Given the description of an element on the screen output the (x, y) to click on. 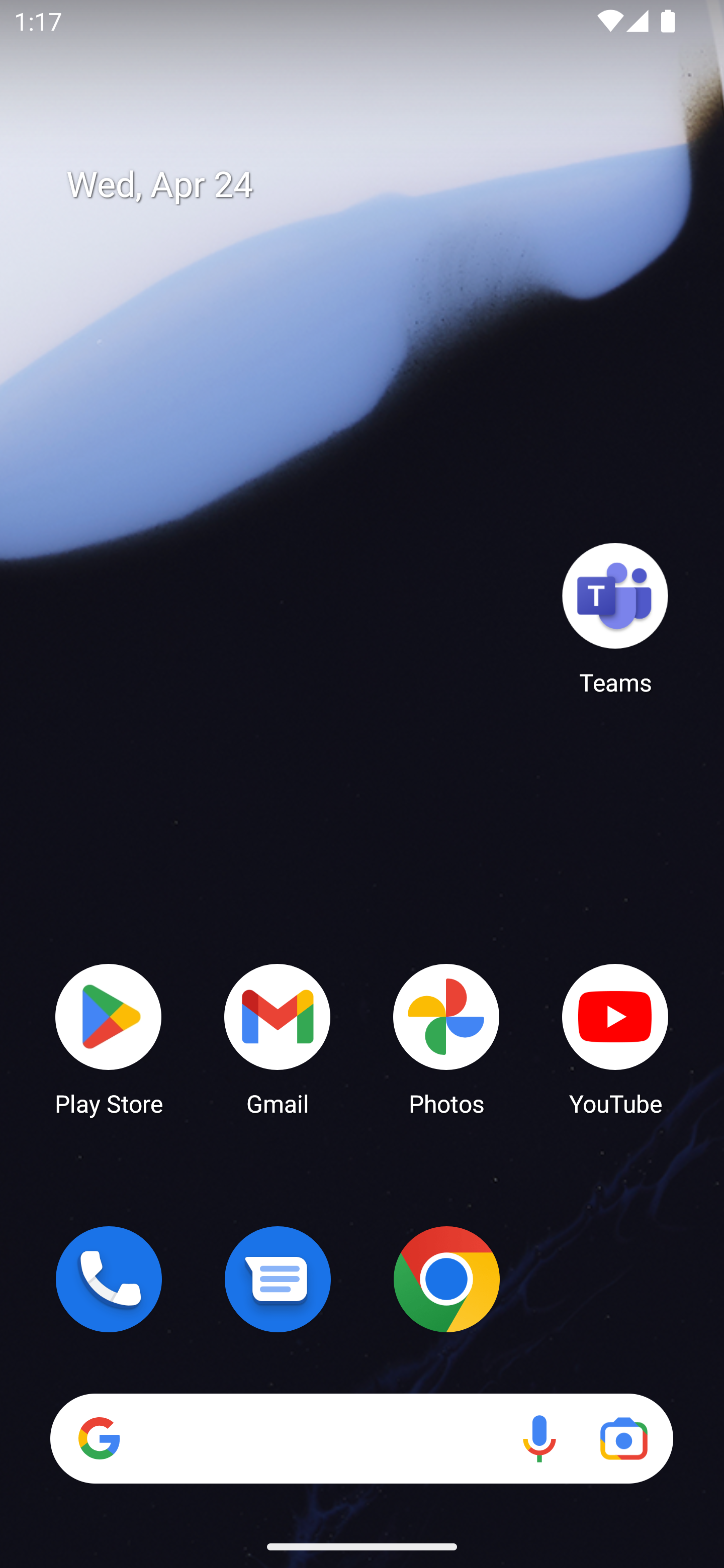
Wed, Apr 24 (375, 184)
Teams (615, 617)
Play Store (108, 1038)
Gmail (277, 1038)
Photos (445, 1038)
YouTube (615, 1038)
Phone (108, 1279)
Messages (277, 1279)
Chrome (446, 1279)
Search Voice search Google Lens (361, 1438)
Voice search (539, 1438)
Google Lens (623, 1438)
